Given the description of an element on the screen output the (x, y) to click on. 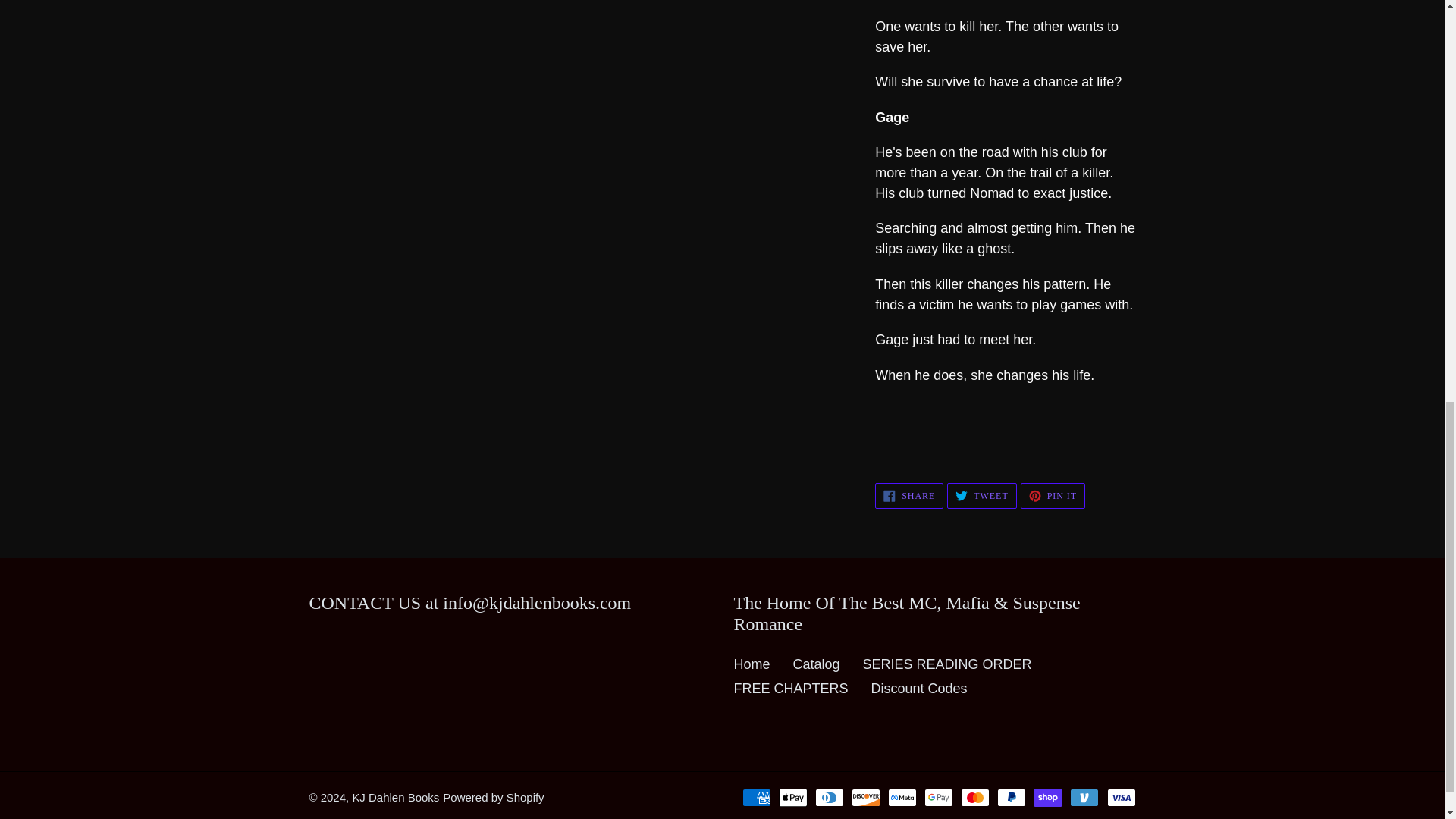
Powered by Shopify (492, 797)
FREE CHAPTERS (790, 688)
Discount Codes (919, 688)
Home (909, 495)
KJ Dahlen Books (751, 663)
Catalog (395, 797)
SERIES READING ORDER (816, 663)
